Given the description of an element on the screen output the (x, y) to click on. 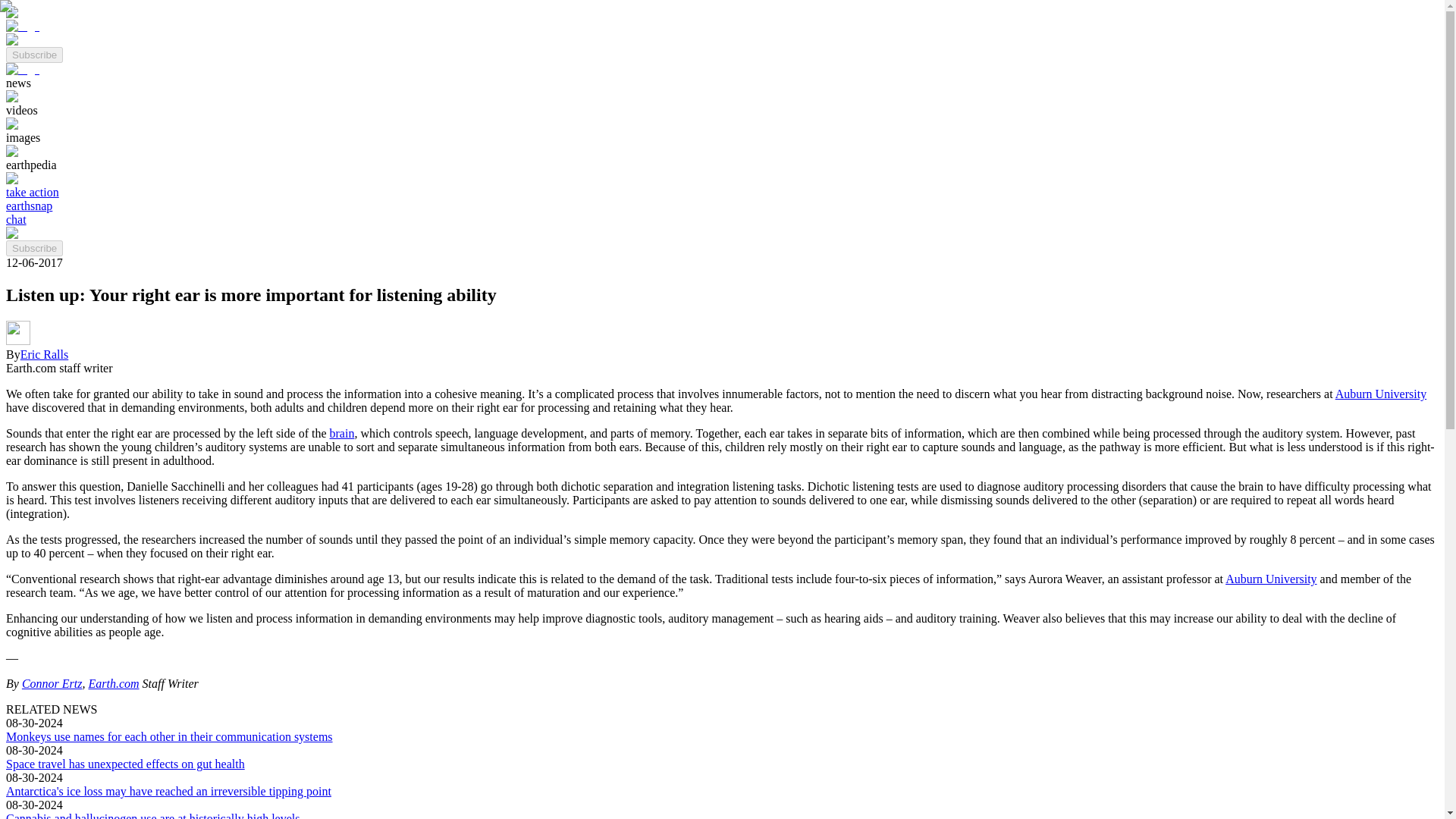
Subscribe (33, 54)
chat (15, 219)
earthsnap (28, 205)
Subscribe (33, 248)
Subscribe (33, 246)
Auburn University (1380, 393)
brain (342, 432)
Space travel has unexpected effects on gut health (124, 763)
